Given the description of an element on the screen output the (x, y) to click on. 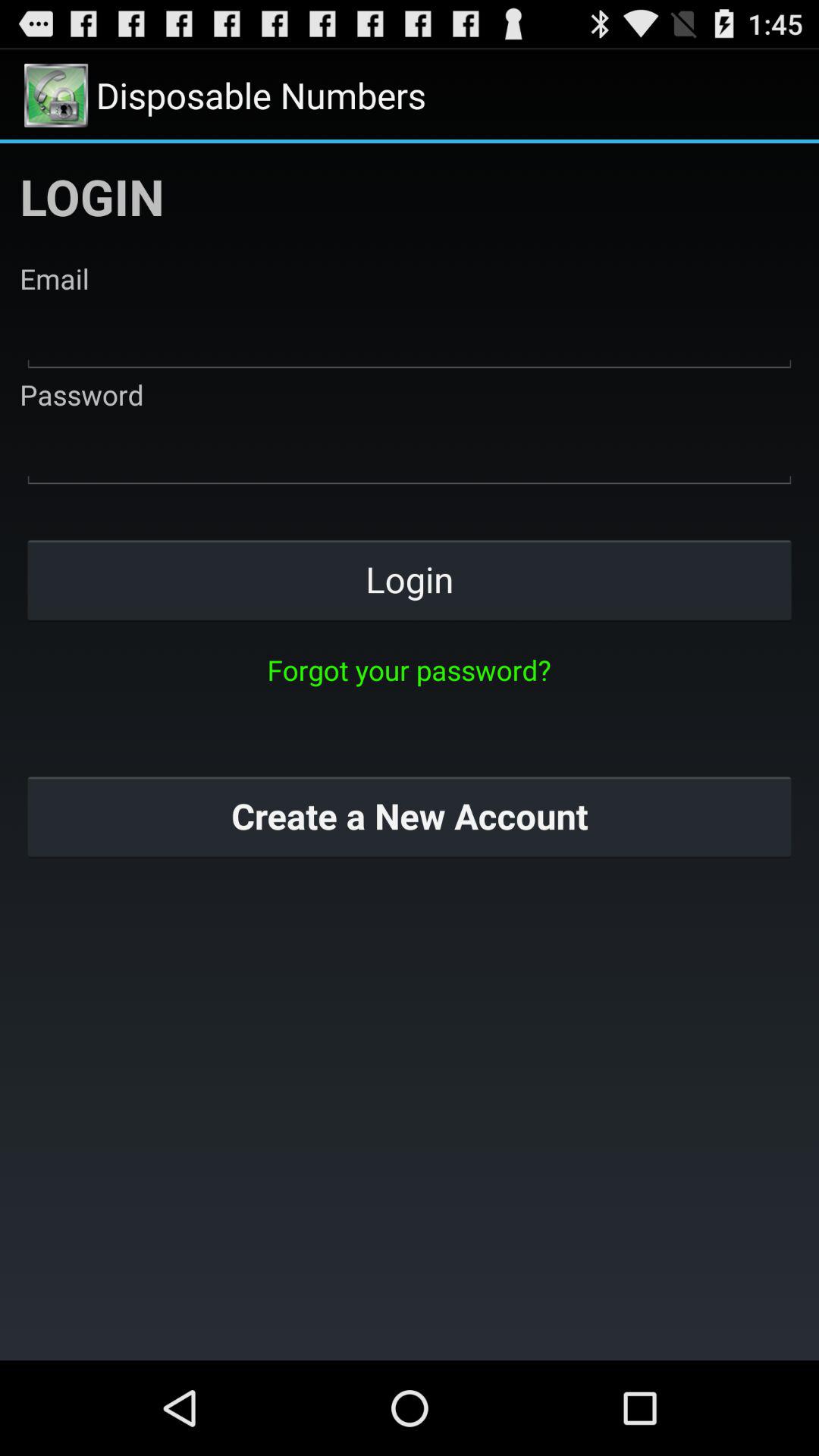
click item below the forgot your password? (409, 815)
